Given the description of an element on the screen output the (x, y) to click on. 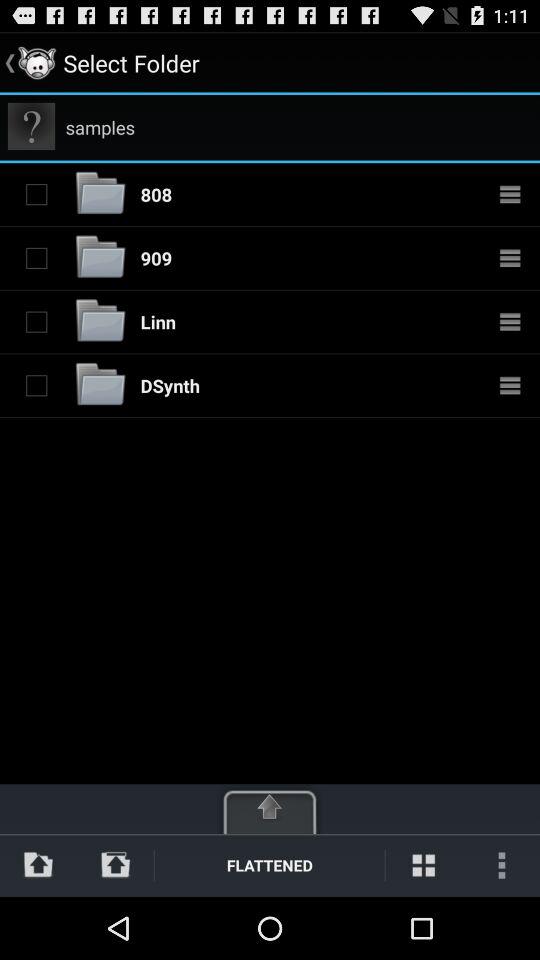
open the item next to the flattened (423, 864)
